Given the description of an element on the screen output the (x, y) to click on. 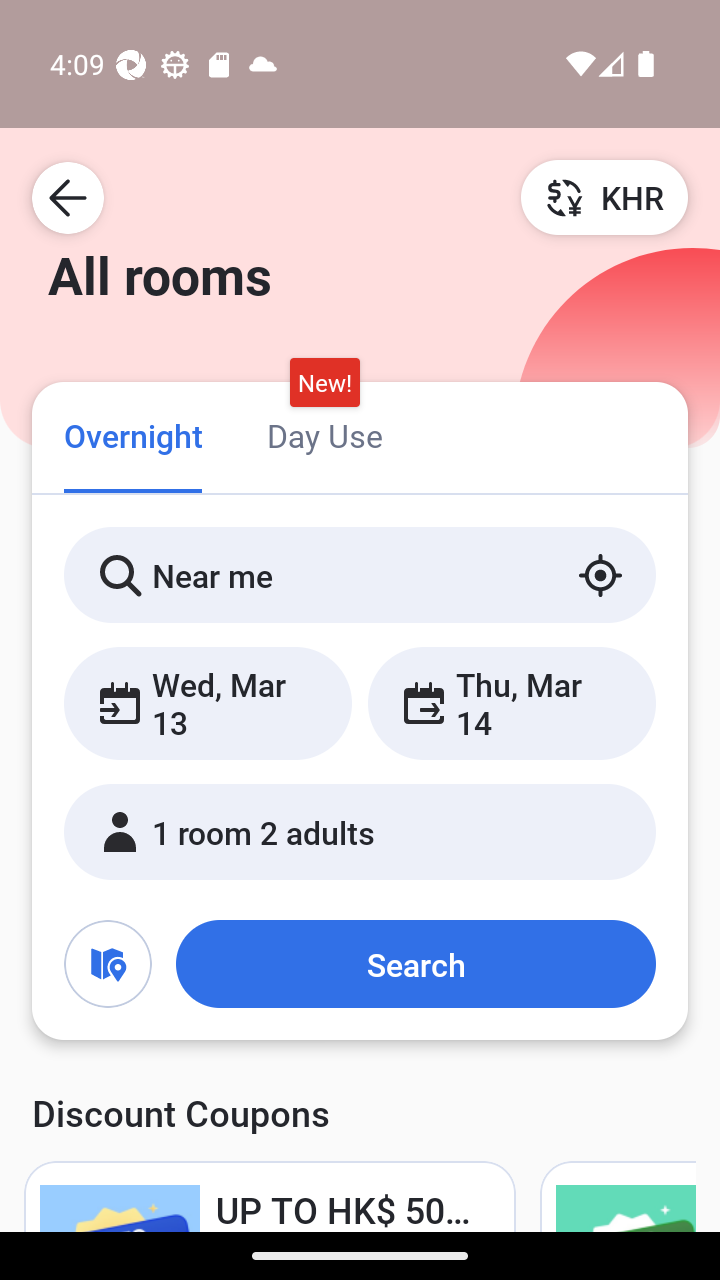
KHR (604, 197)
New! (324, 383)
Day Use (324, 434)
Near me (359, 575)
Wed, Mar 13 (208, 703)
Thu, Mar 14 (511, 703)
1 room 2 adults (359, 831)
Search (415, 964)
